Given the description of an element on the screen output the (x, y) to click on. 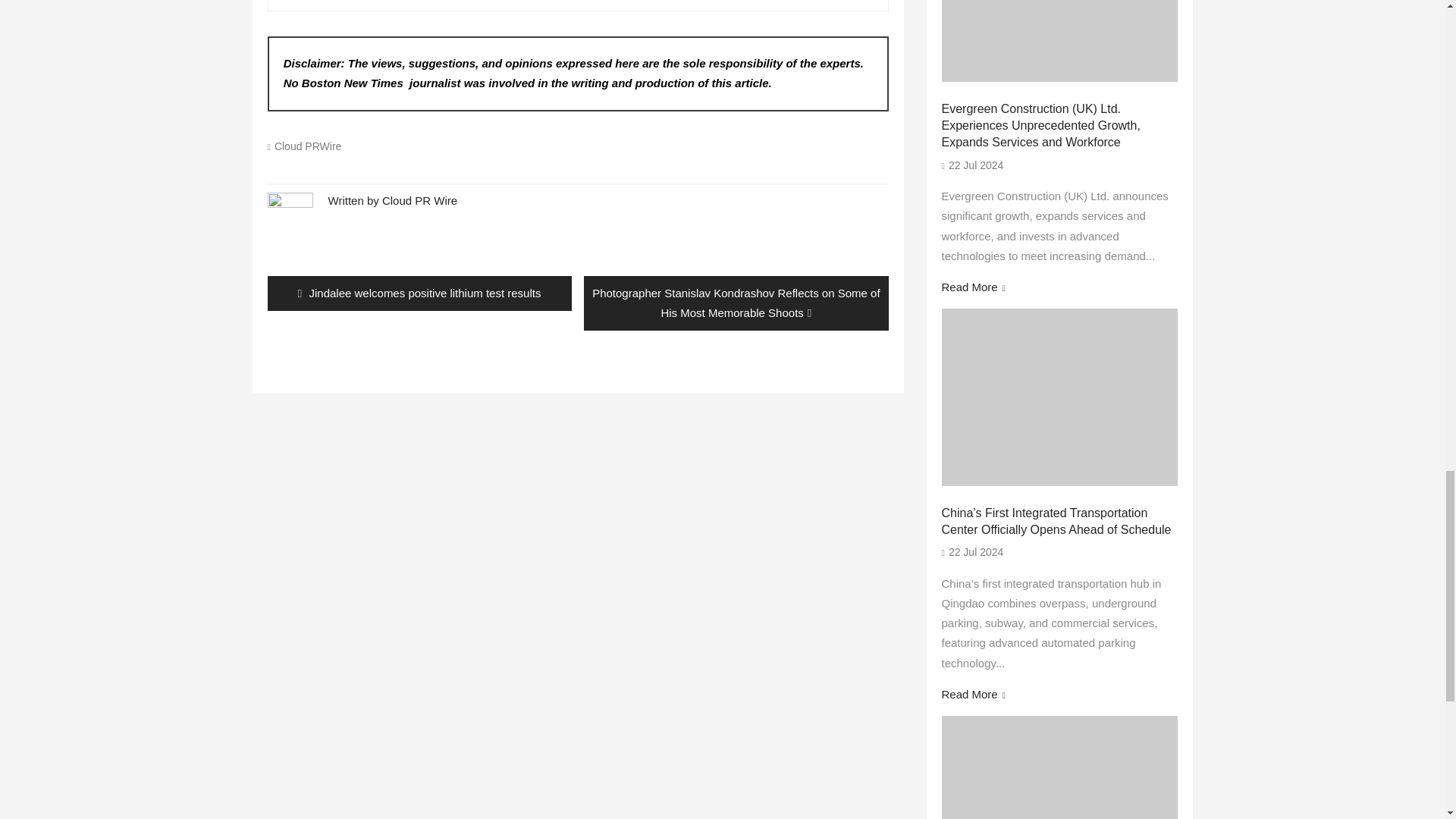
Posts by Cloud PR Wire (419, 200)
Cloud PR Wire (419, 200)
Cloud PRWire (307, 146)
